Given the description of an element on the screen output the (x, y) to click on. 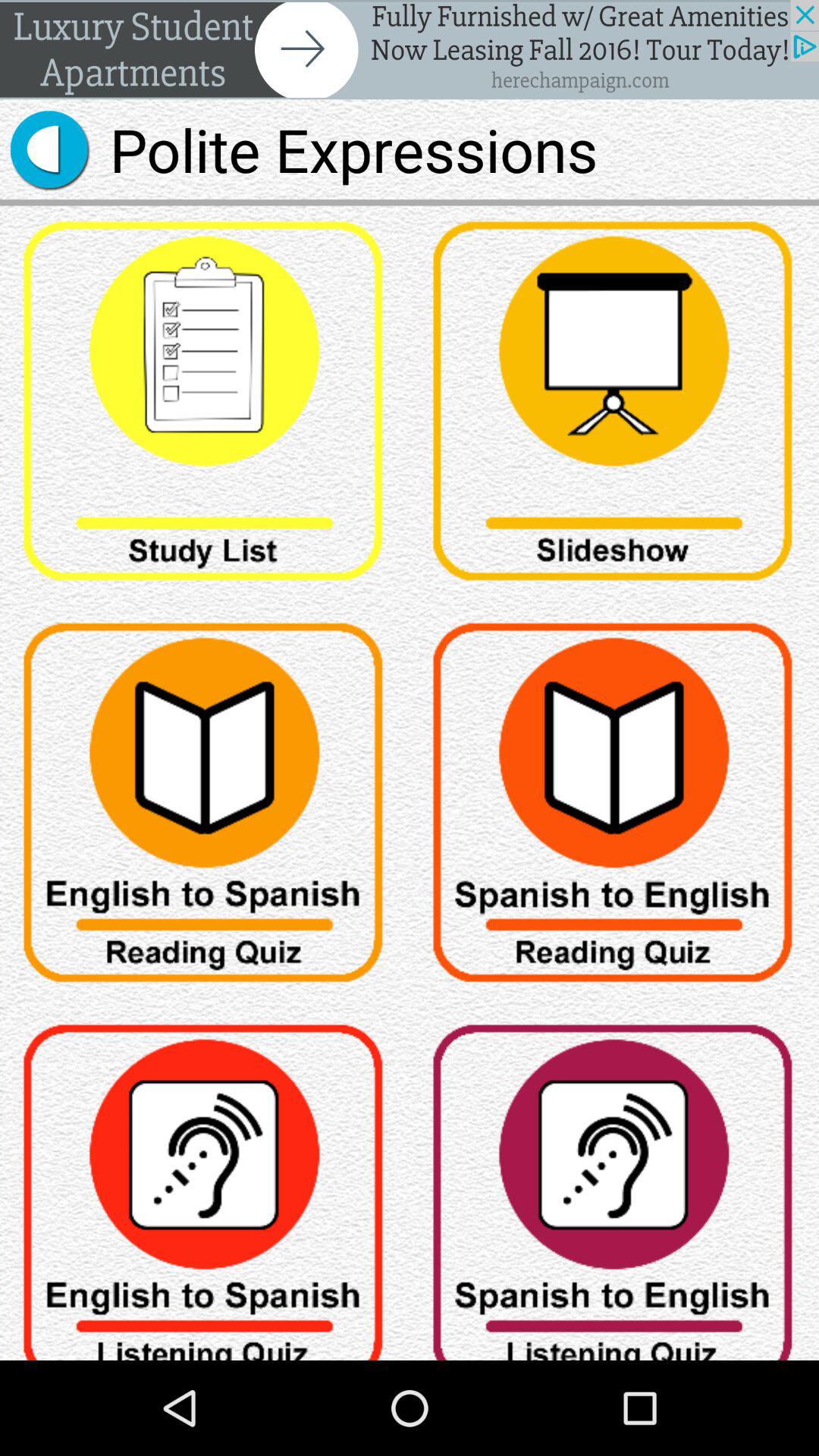
change language (204, 1184)
